Given the description of an element on the screen output the (x, y) to click on. 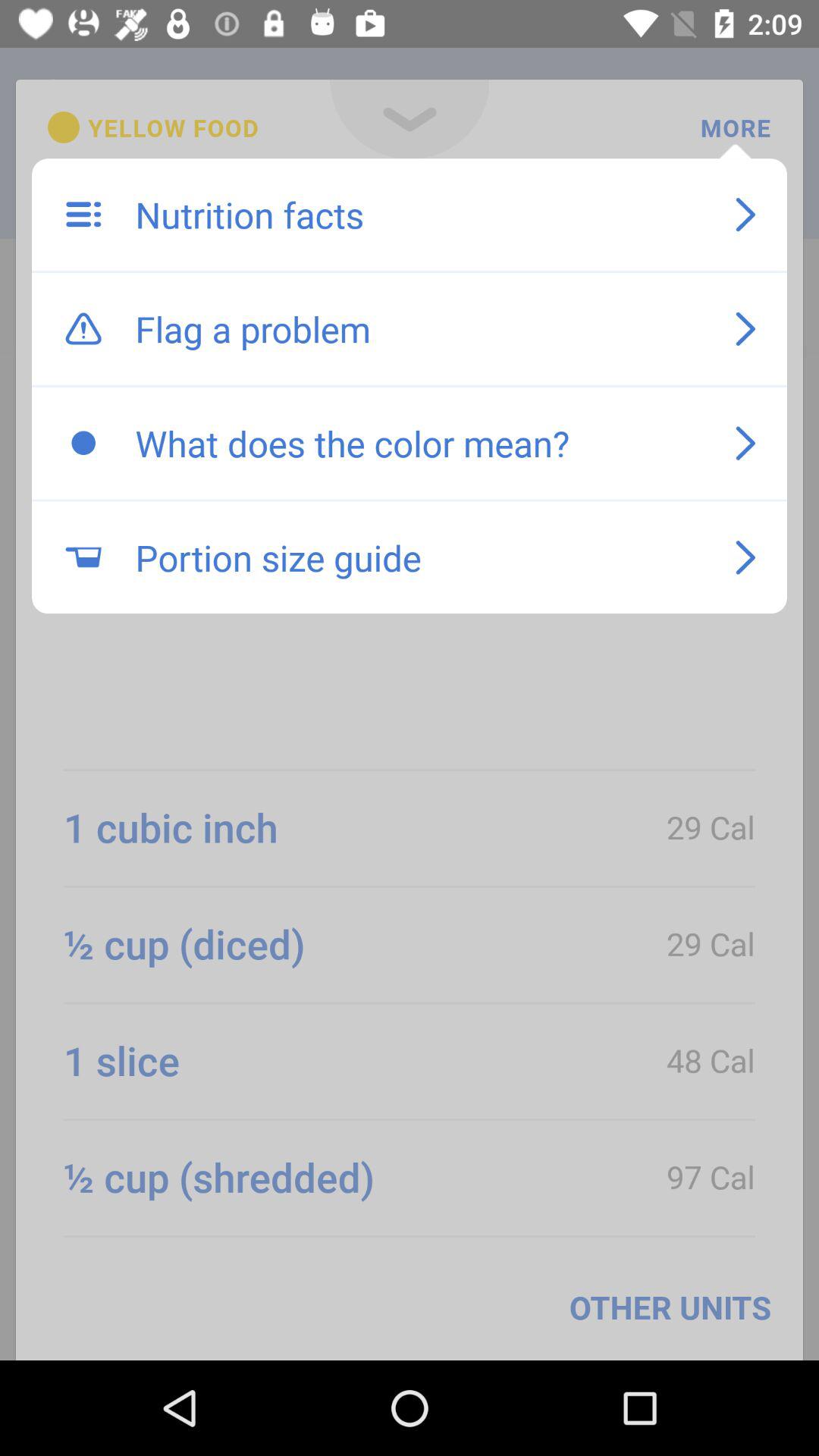
select nutrition facts (419, 214)
